Given the description of an element on the screen output the (x, y) to click on. 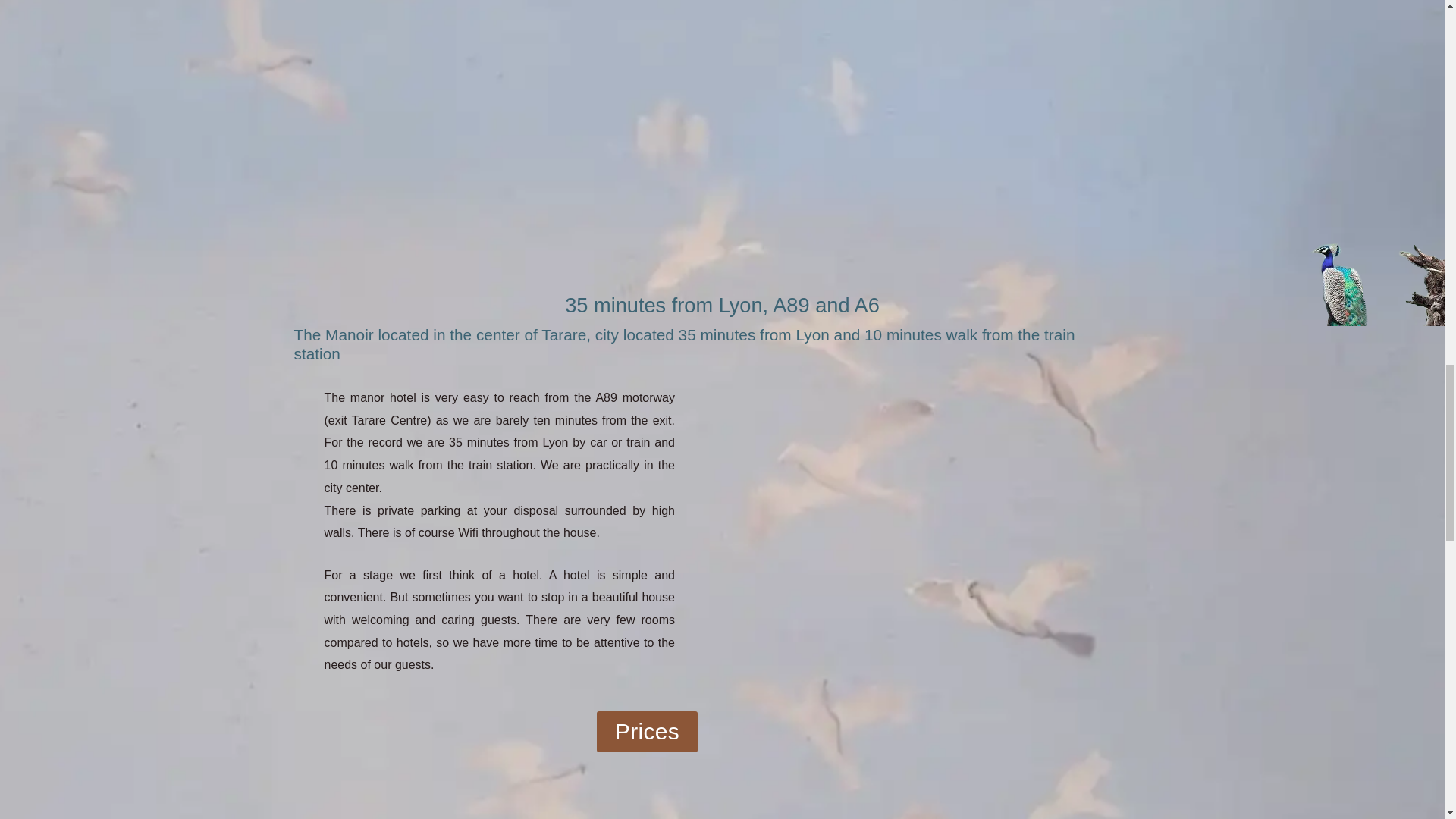
Prices (646, 731)
